Given the description of an element on the screen output the (x, y) to click on. 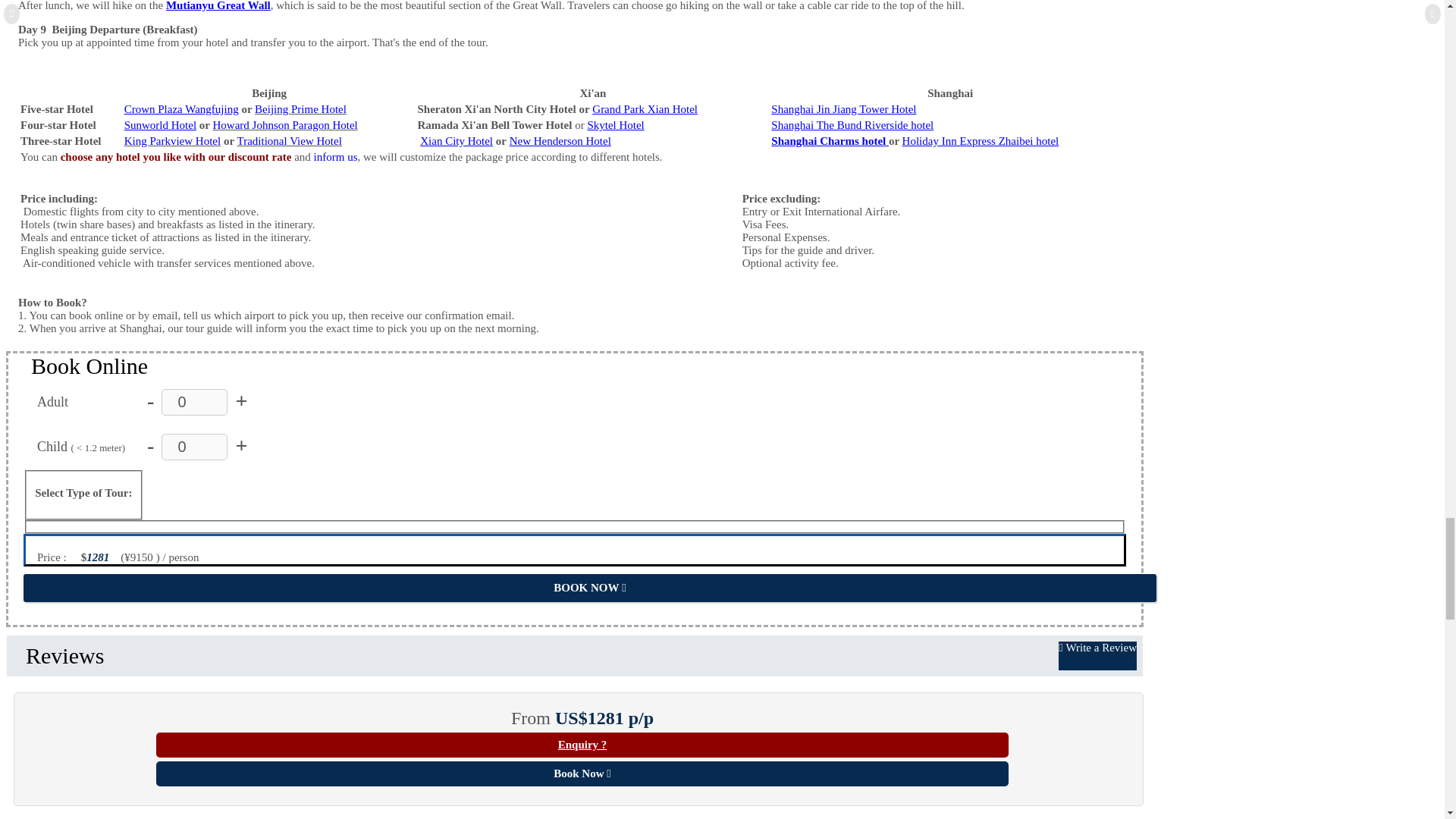
0 (194, 447)
0 (194, 402)
